Given the description of an element on the screen output the (x, y) to click on. 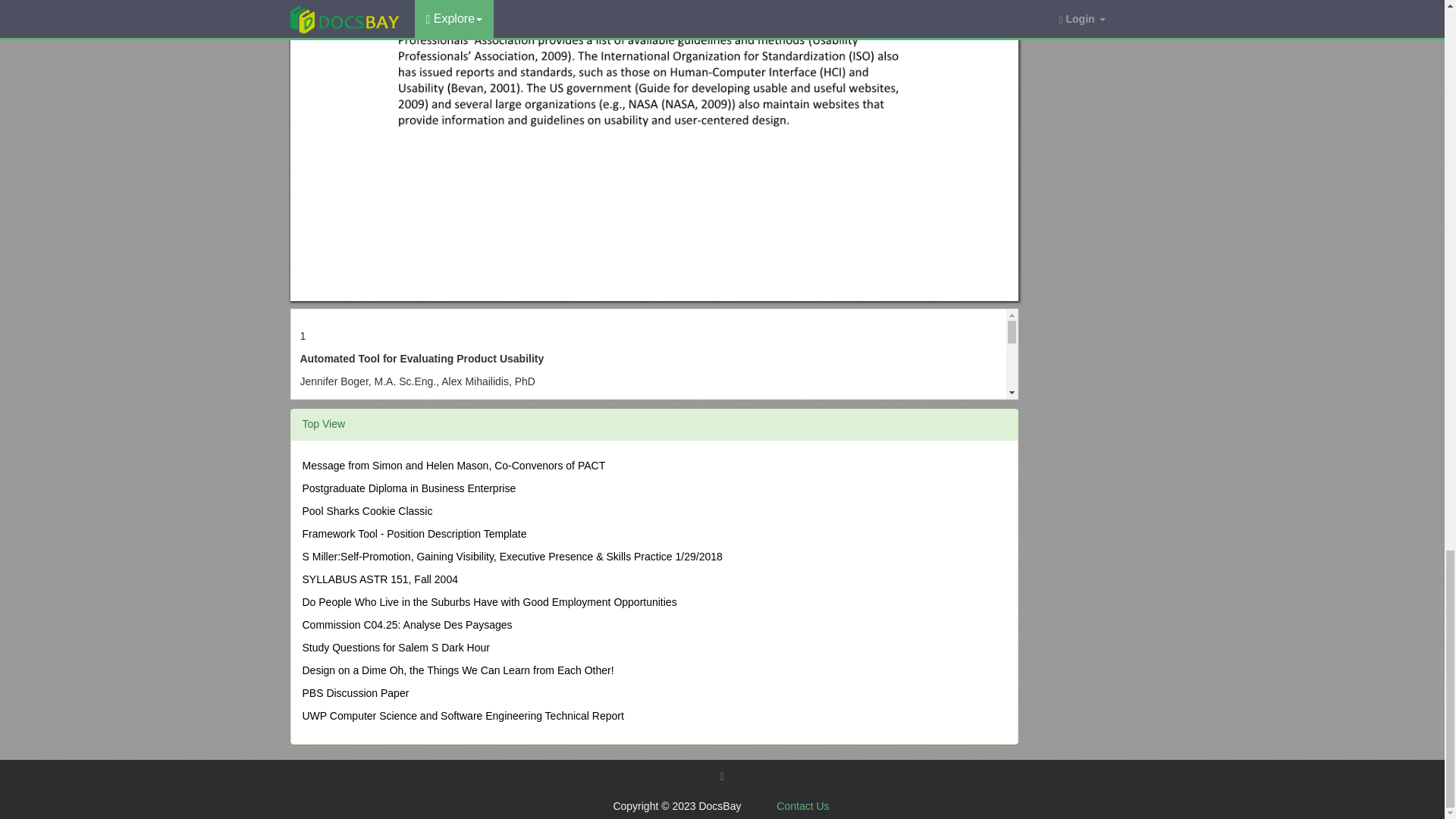
Pool Sharks Cookie Classic (366, 510)
SYLLABUS ASTR 151, Fall 2004 (379, 579)
Commission C04.25: Analyse Des Paysages (406, 624)
Framework Tool - Position Description Template (413, 533)
Message from Simon and Helen Mason, Co-Convenors of PACT (453, 465)
PBS Discussion Paper (355, 693)
Contact Us (802, 806)
Postgraduate Diploma in Business Enterprise (408, 488)
Study Questions for Salem S Dark Hour (395, 647)
